Given the description of an element on the screen output the (x, y) to click on. 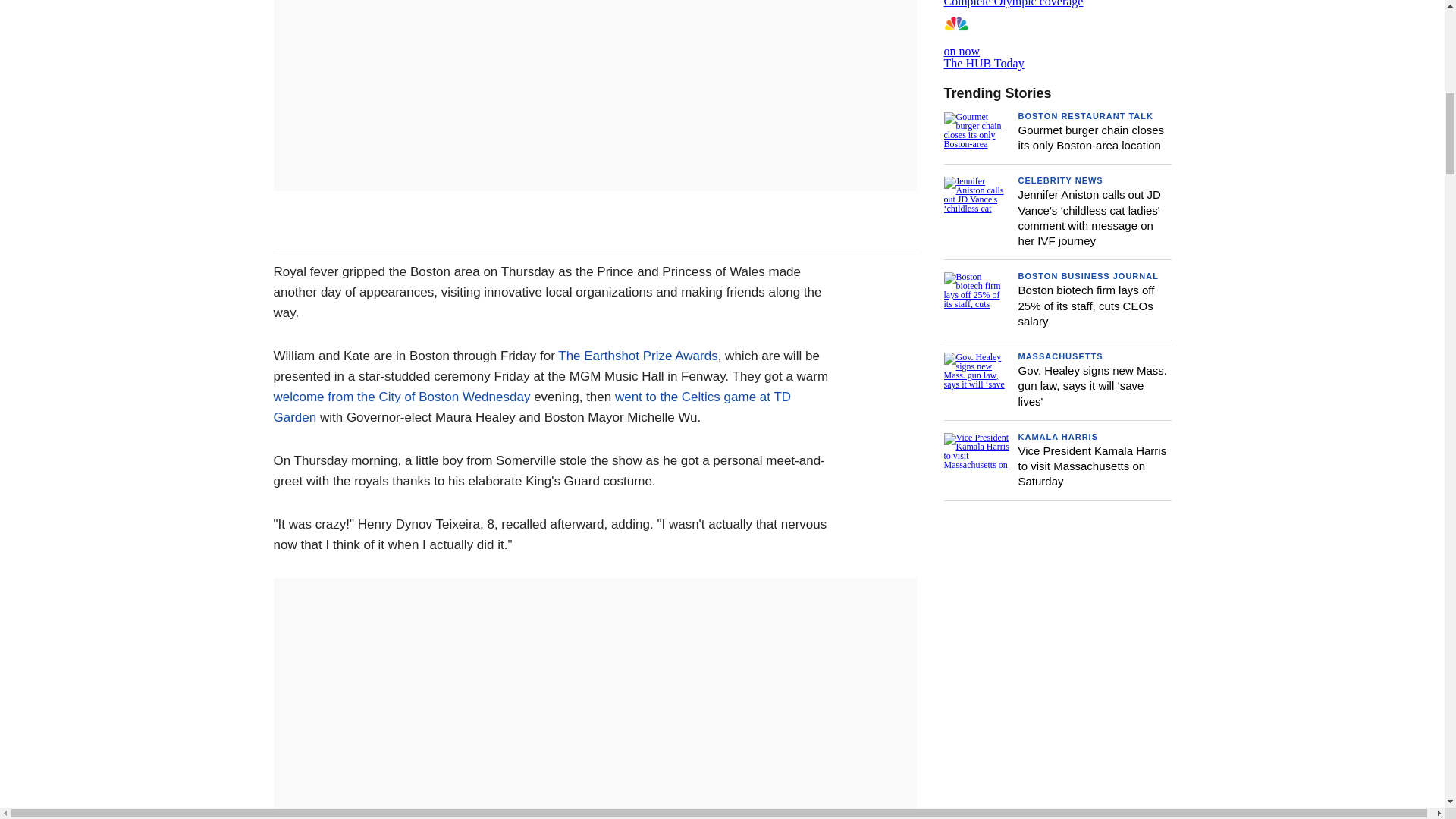
The Earthshot Prize Awards (637, 355)
welcome from the City of Boston Wednesday (401, 396)
went to the Celtics game at TD Garden (531, 407)
